Given the description of an element on the screen output the (x, y) to click on. 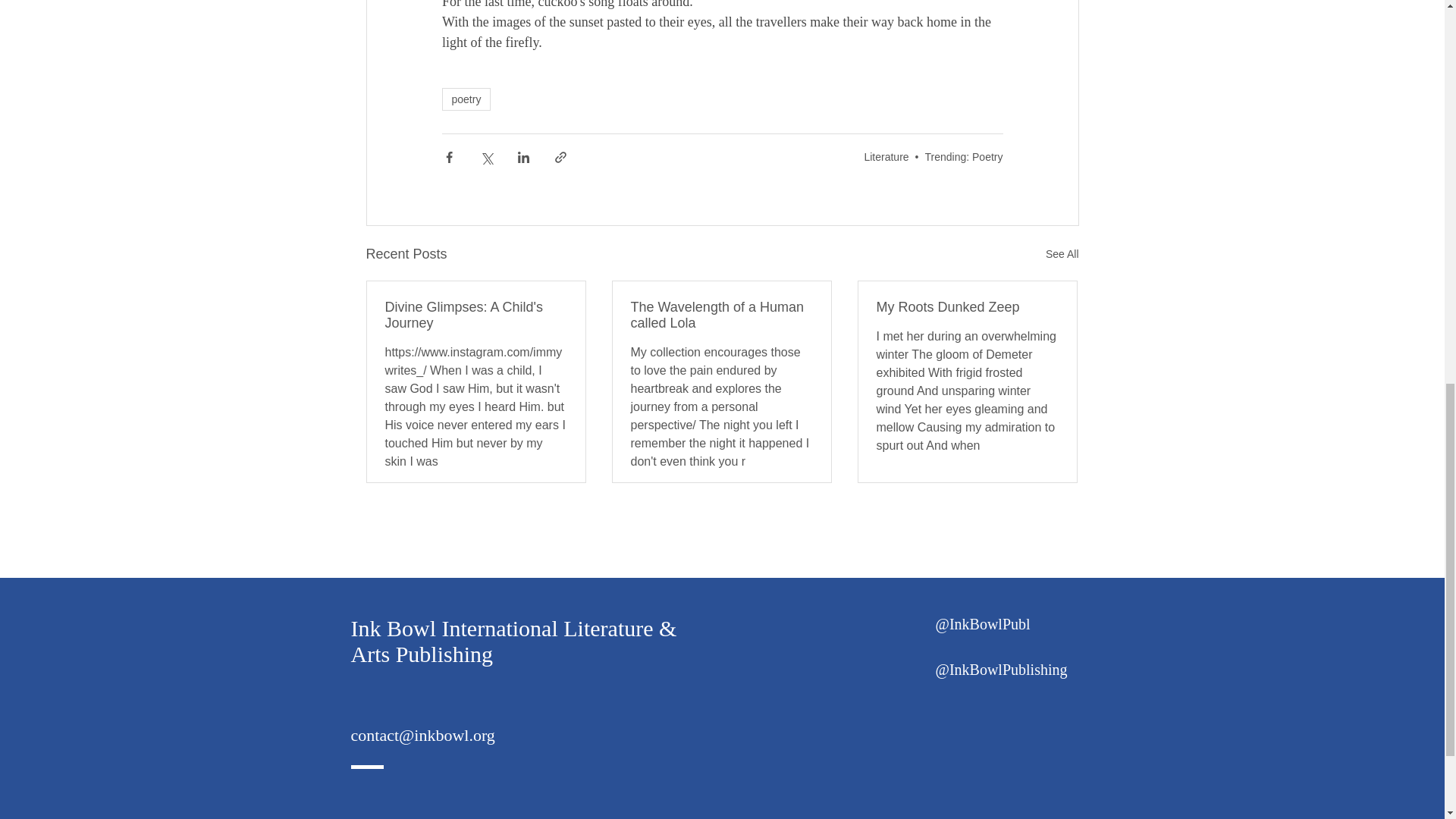
My Roots Dunked Zeep (967, 307)
Trending: Poetry (963, 155)
Literature (885, 155)
See All (1061, 254)
The Wavelength of a Human called Lola (721, 315)
poetry (465, 98)
Divine Glimpses: A Child's Journey (476, 315)
